Given the description of an element on the screen output the (x, y) to click on. 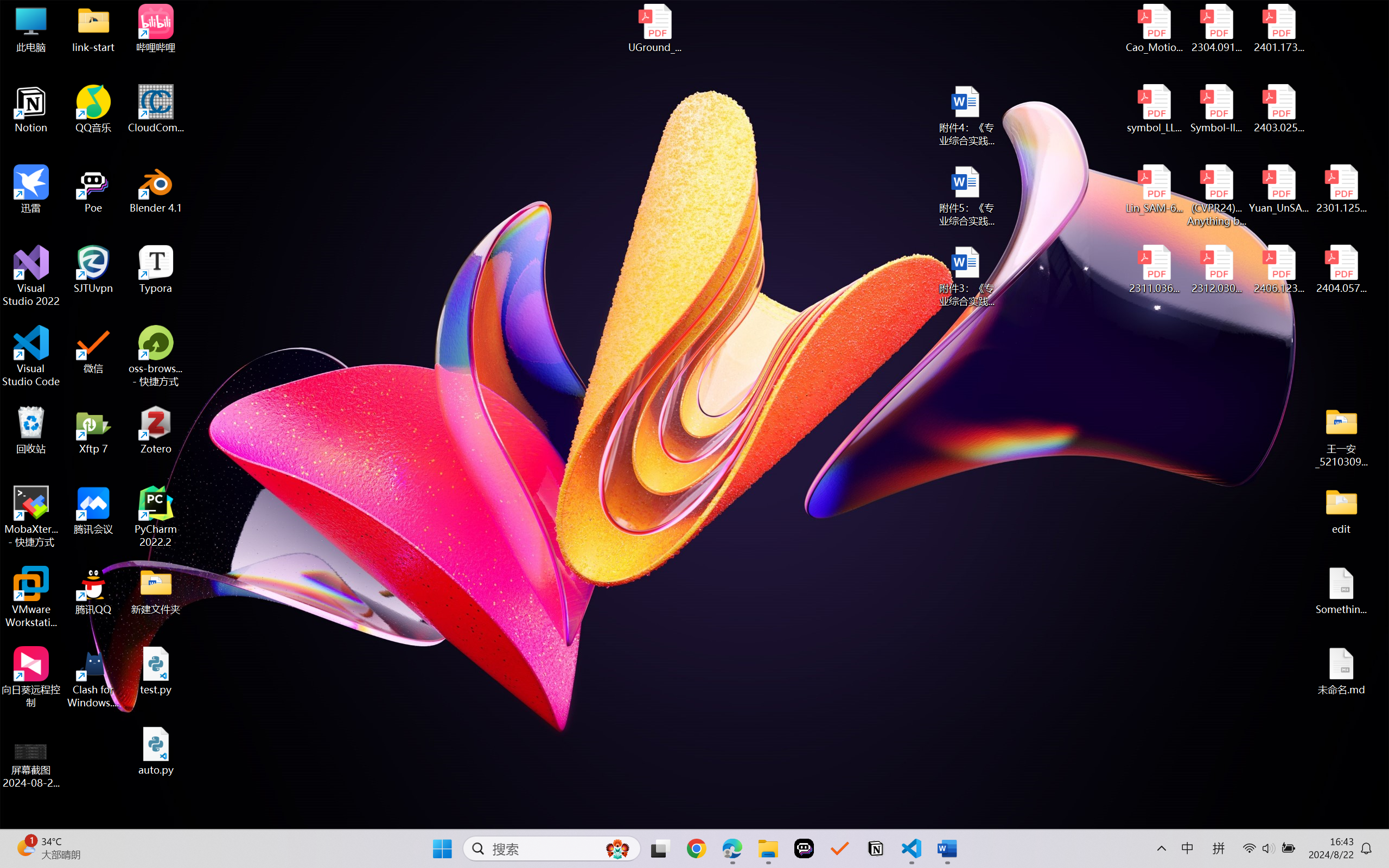
Xftp 7 (93, 430)
Visual Studio Code (31, 355)
2311.03658v2.pdf (1154, 269)
(CVPR24)Matching Anything by Segmenting Anything.pdf (1216, 195)
